Given the description of an element on the screen output the (x, y) to click on. 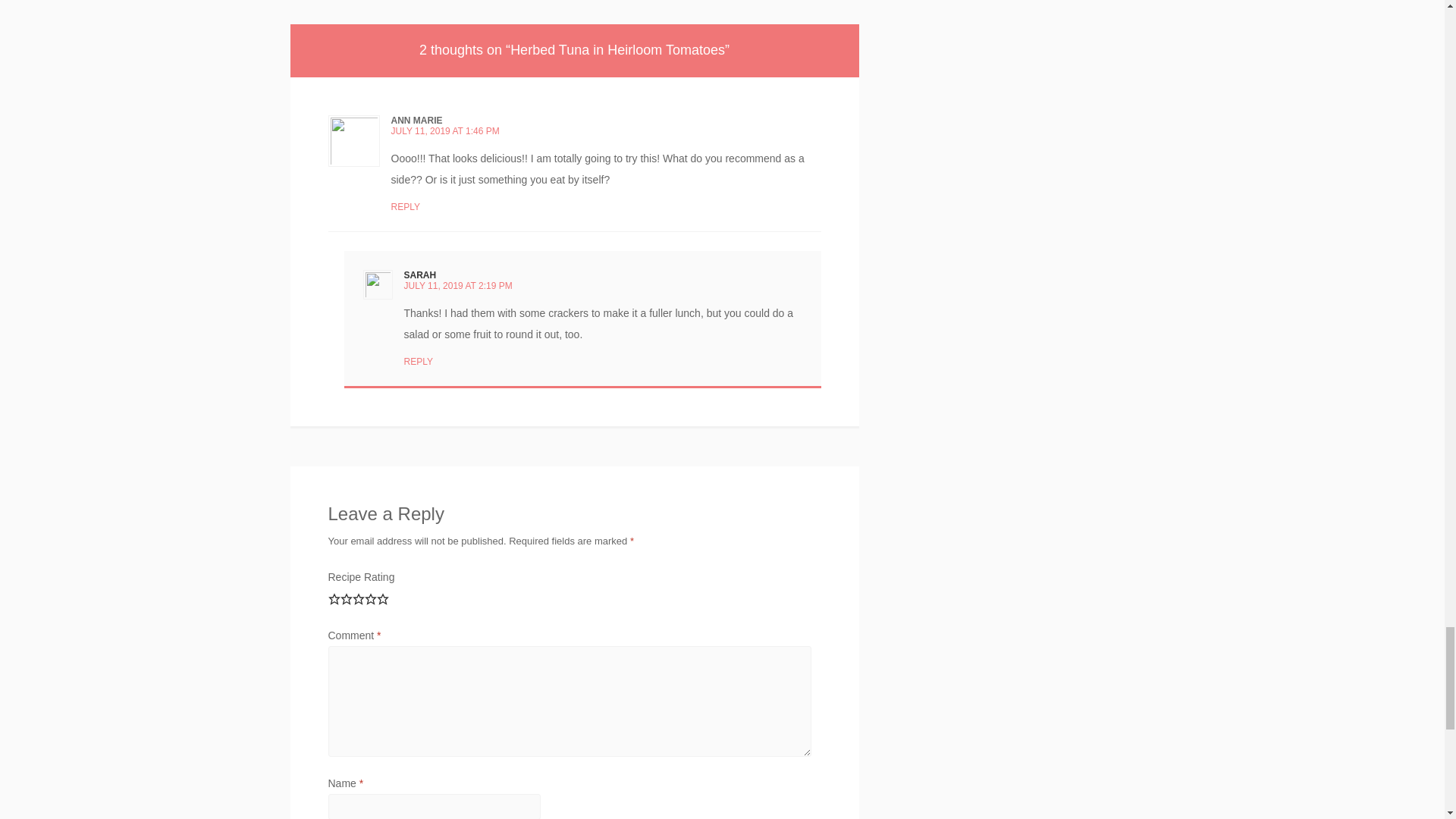
JULY 11, 2019 AT 1:46 PM (445, 131)
REPLY (405, 206)
REPLY (417, 361)
SARAH (419, 275)
JULY 11, 2019 AT 2:19 PM (457, 285)
